Given the description of an element on the screen output the (x, y) to click on. 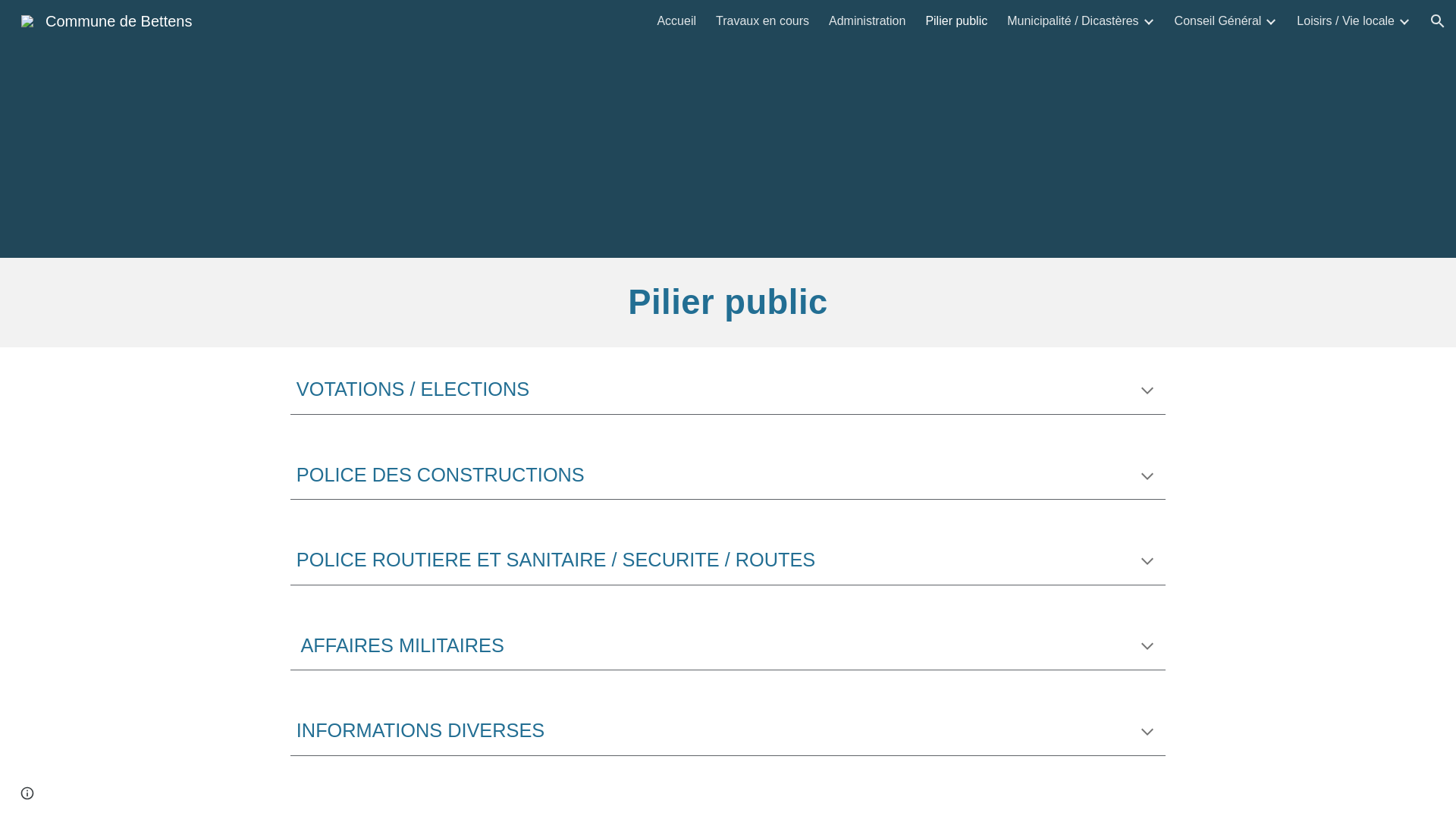
Expand/Collapse Element type: hover (1147, 21)
Accueil Element type: text (676, 21)
Administration Element type: text (866, 21)
Expand/Collapse Element type: hover (1270, 21)
Commune de Bettens Element type: text (106, 19)
Travaux en cours Element type: text (762, 21)
Loisirs / Vie locale Element type: text (1345, 21)
Expand/Collapse Element type: hover (1403, 21)
Pilier public Element type: text (956, 21)
